Given the description of an element on the screen output the (x, y) to click on. 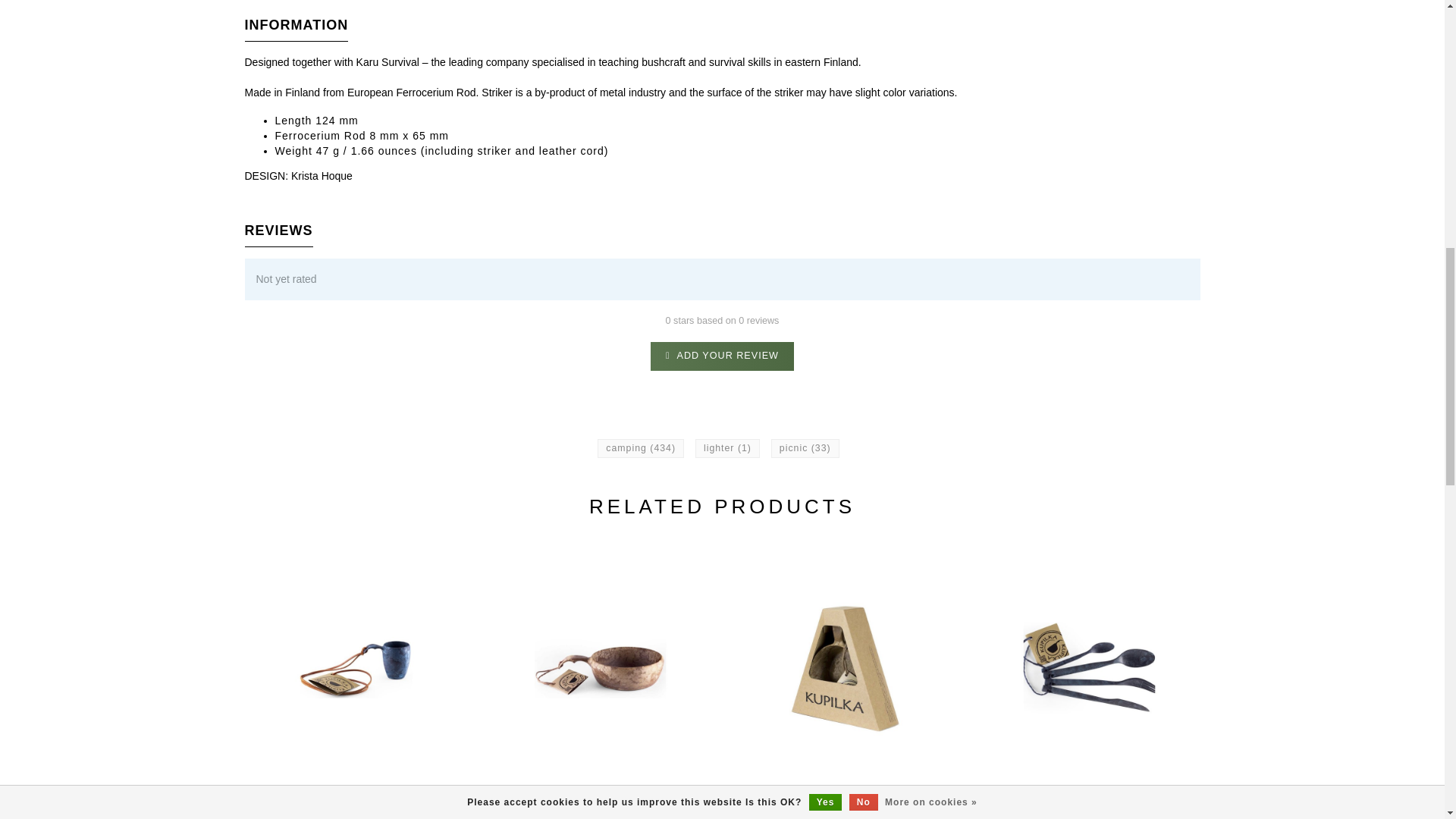
camping (640, 448)
lighter (727, 448)
Kupilka Kupilka 55 Bowl with Individual Packaging (844, 814)
Kupilka Kupilka 5 Shot Cup with Leather Band (354, 814)
picnic (805, 448)
Kupilka Kupilka 55 Bowl (599, 814)
Add your review (721, 356)
Kupilka Kupilka Cutlery Set (1088, 814)
